Given the description of an element on the screen output the (x, y) to click on. 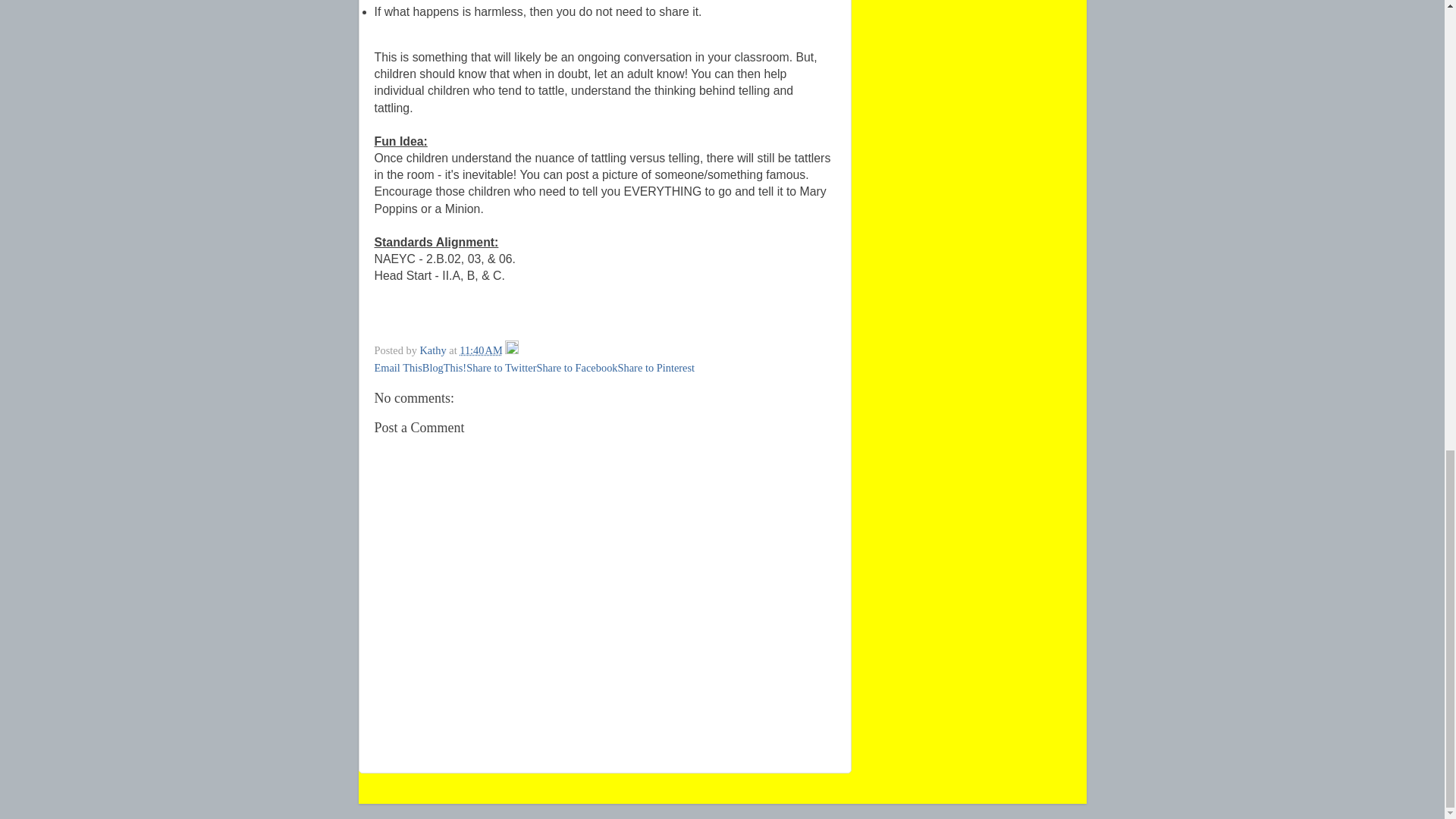
Share to Facebook (576, 367)
Share to Twitter (500, 367)
Kathy (433, 349)
permanent link (481, 349)
BlogThis! (443, 367)
Edit Post (511, 349)
Share to Facebook (576, 367)
Email This (398, 367)
author profile (433, 349)
